Given the description of an element on the screen output the (x, y) to click on. 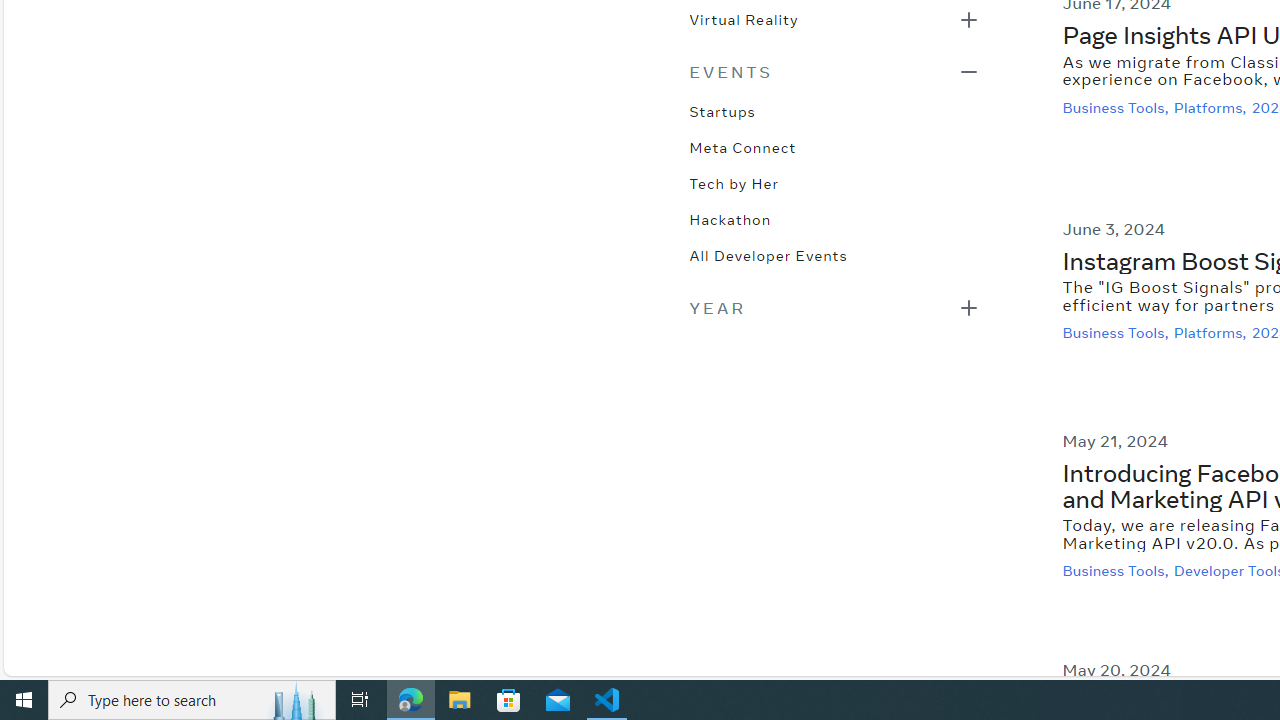
Meta Connect (742, 145)
Class: _9890 _98ez (834, 307)
Startups (722, 109)
Platforms, (1211, 333)
Tech by Her (733, 181)
Business Tools, (1117, 571)
Class: _9890 _98ey (834, 71)
Class: _98ex (834, 261)
Virtual Reality (743, 17)
All Developer Events (767, 253)
Class: _98ex _98ez (834, 25)
Hackathon (729, 217)
